Given the description of an element on the screen output the (x, y) to click on. 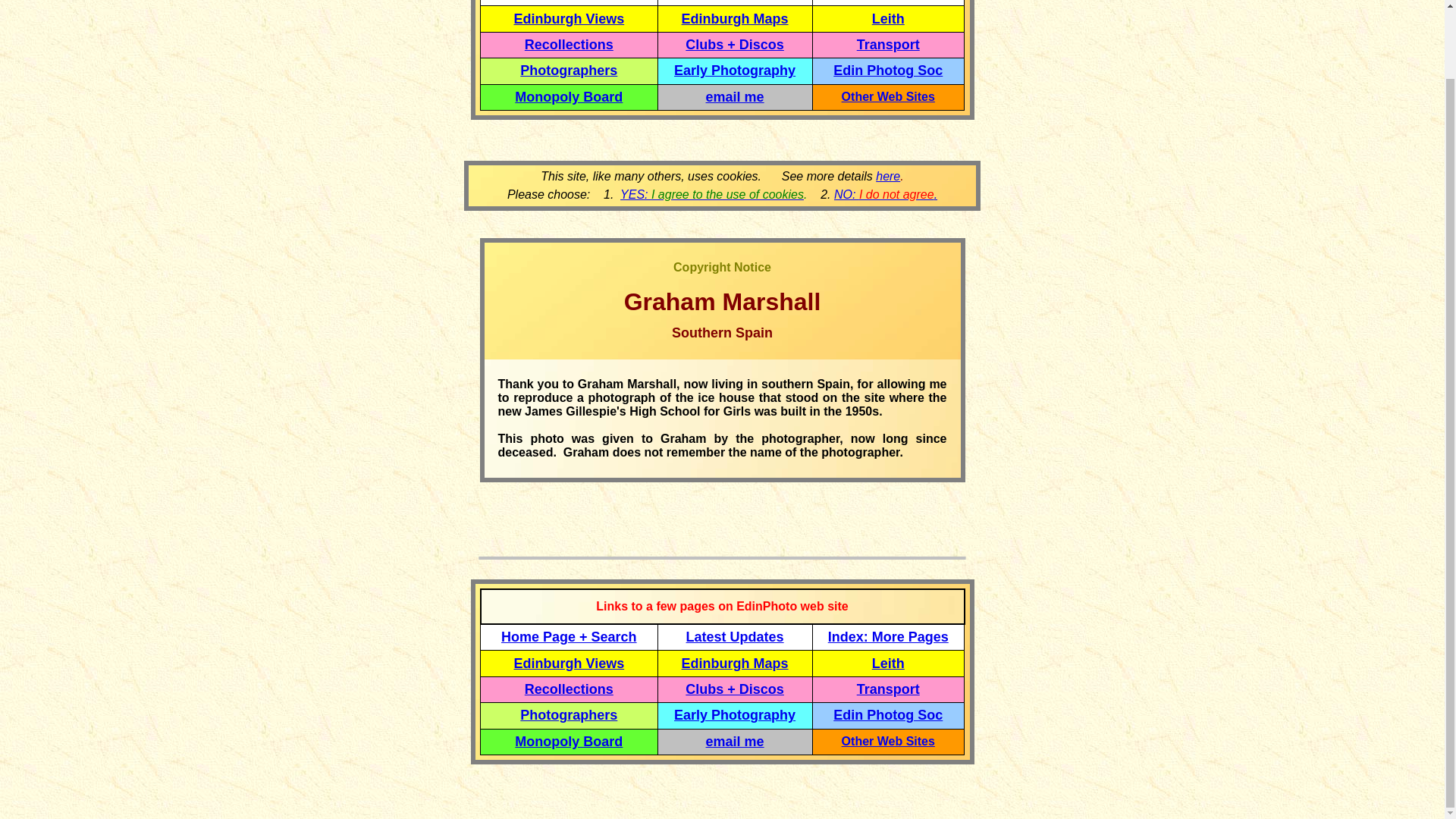
email me (735, 741)
Monopoly Board (569, 741)
Monopoly Board (569, 96)
Early Photography (734, 714)
Recollections (568, 688)
Transport (888, 44)
Leith (888, 663)
here (887, 175)
Early Photography (734, 70)
NO: I do not agree. (885, 194)
Other Web Sites (887, 96)
Edin Photog Soc (887, 714)
email me (735, 96)
YES: I agree to the use of cookies (711, 194)
Edinburgh Views (568, 663)
